Given the description of an element on the screen output the (x, y) to click on. 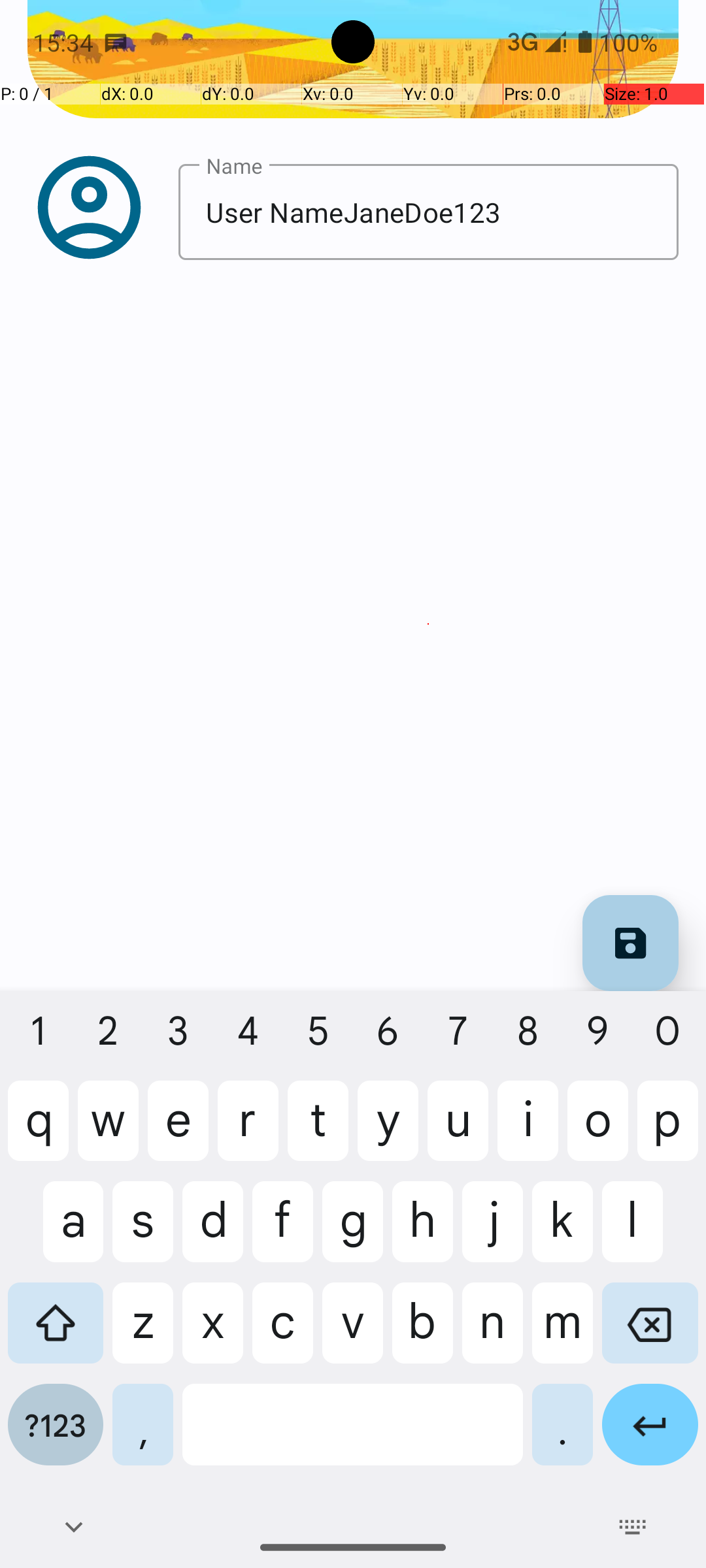
User NameJaneDoe123 Element type: android.widget.EditText (428, 211)
